Given the description of an element on the screen output the (x, y) to click on. 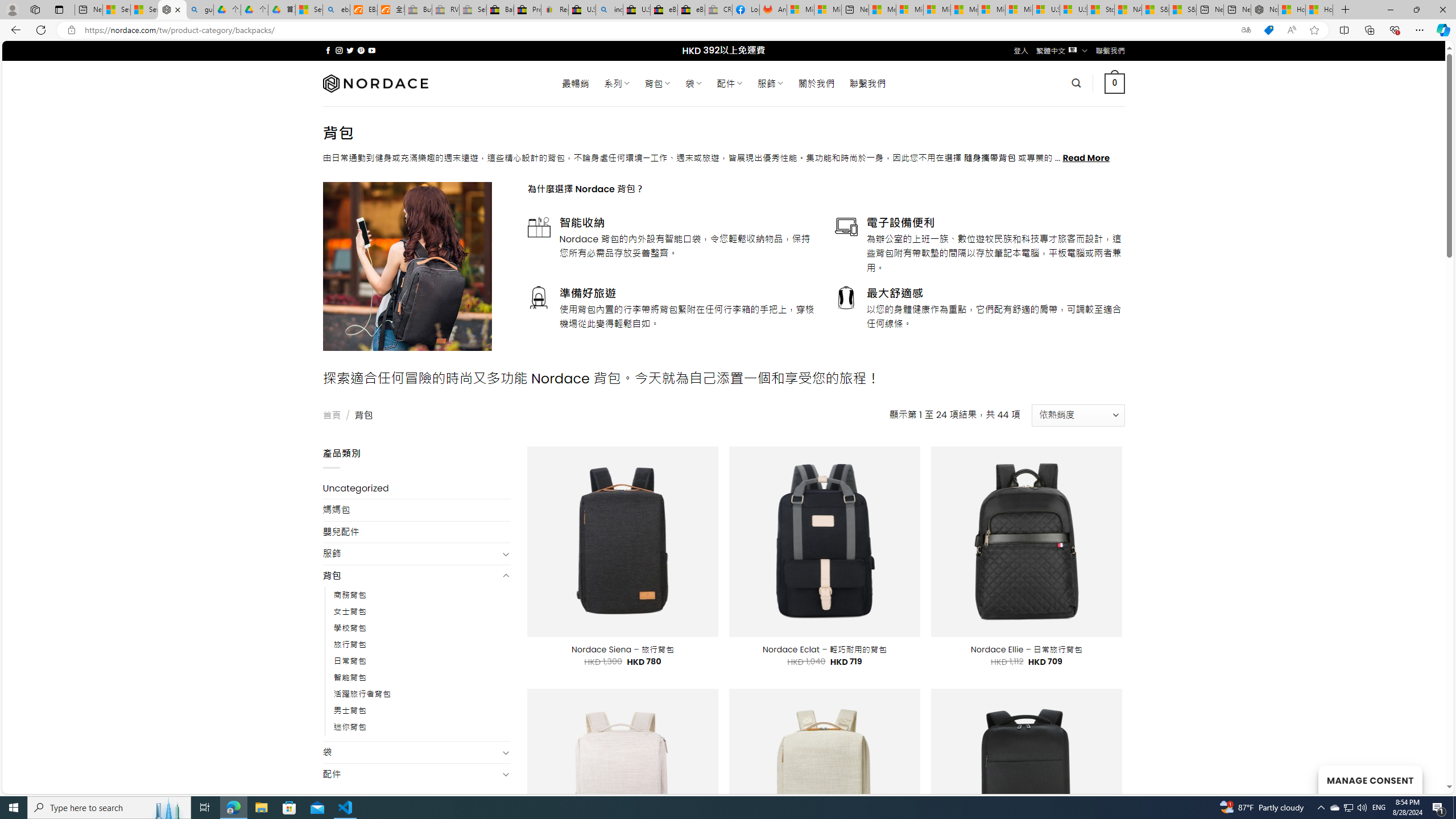
Follow on Twitter (349, 50)
Uncategorized (416, 488)
